Given the description of an element on the screen output the (x, y) to click on. 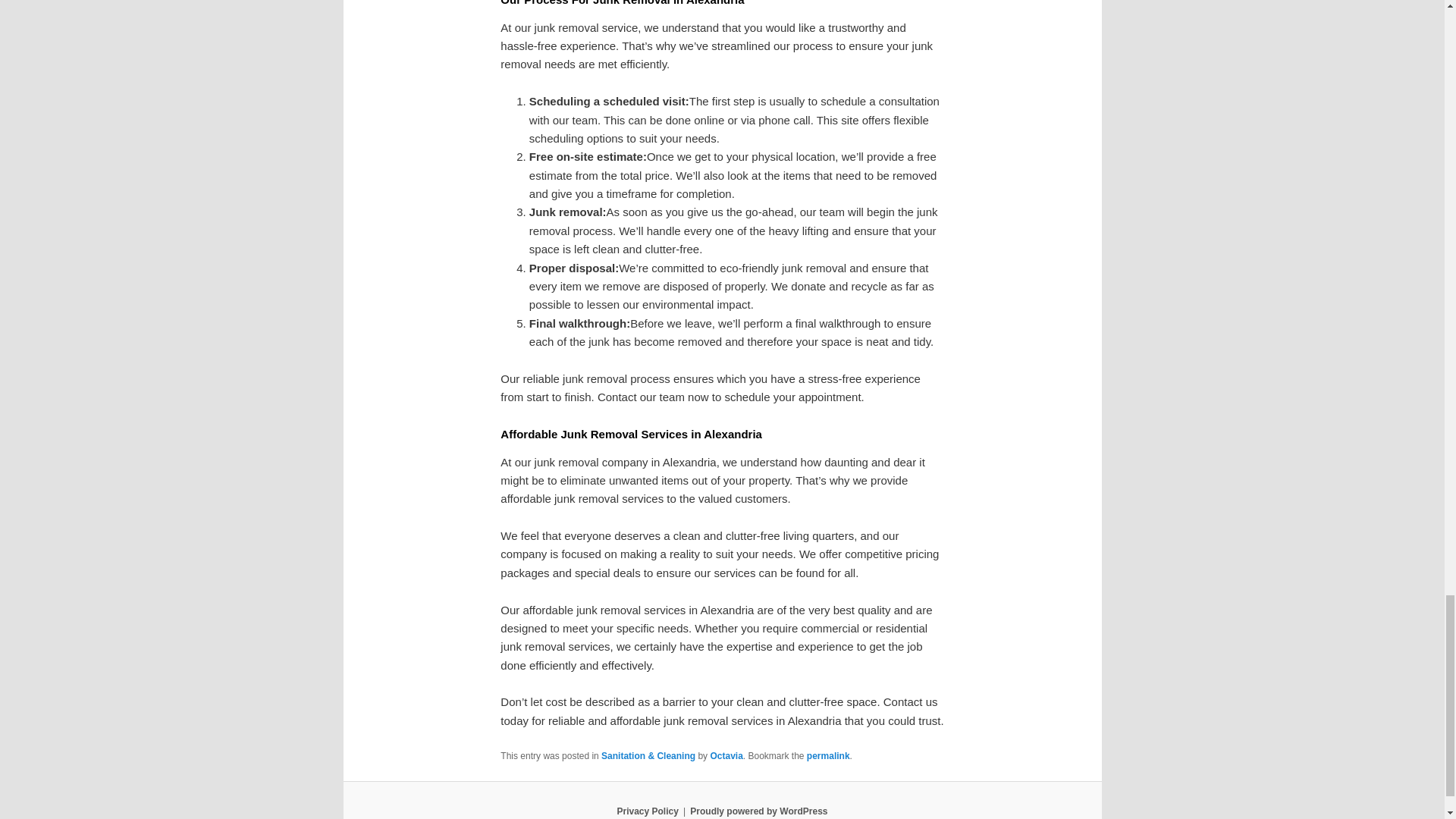
permalink (828, 756)
Privacy Policy (646, 810)
Proudly powered by WordPress (758, 810)
Semantic Personal Publishing Platform (758, 810)
Permalink to Quick and Efficient Junk Pickup in Alexandria (828, 756)
Octavia (726, 756)
